Given the description of an element on the screen output the (x, y) to click on. 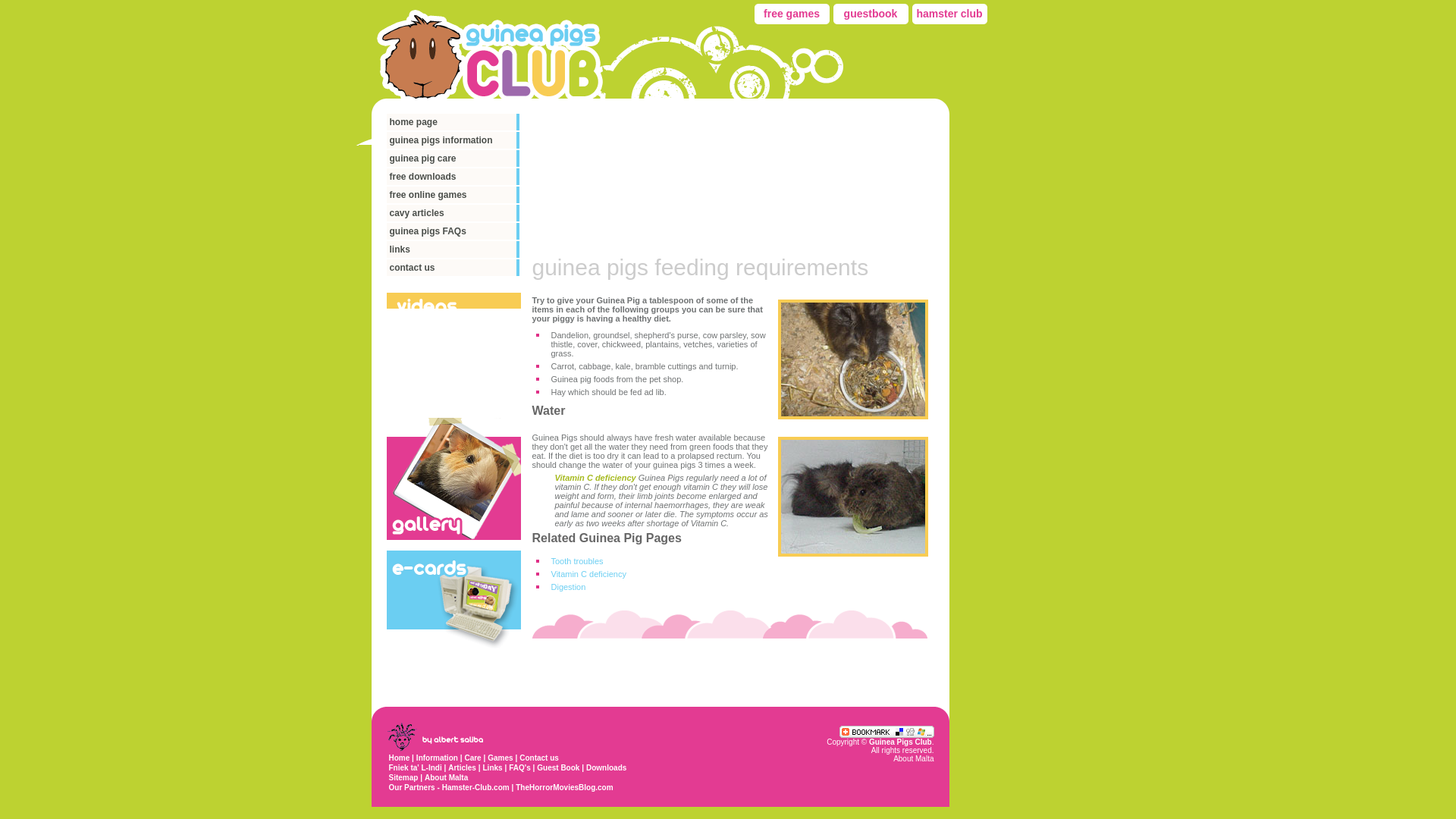
guinea pig guest book (869, 14)
The Horror Movie Blog (563, 786)
guinea pigs information (453, 139)
free online games (453, 194)
hamsters online shop (949, 14)
free downloads (453, 176)
hamster club (949, 14)
free games (791, 14)
Hamster Club (477, 786)
home page (453, 121)
